Given the description of an element on the screen output the (x, y) to click on. 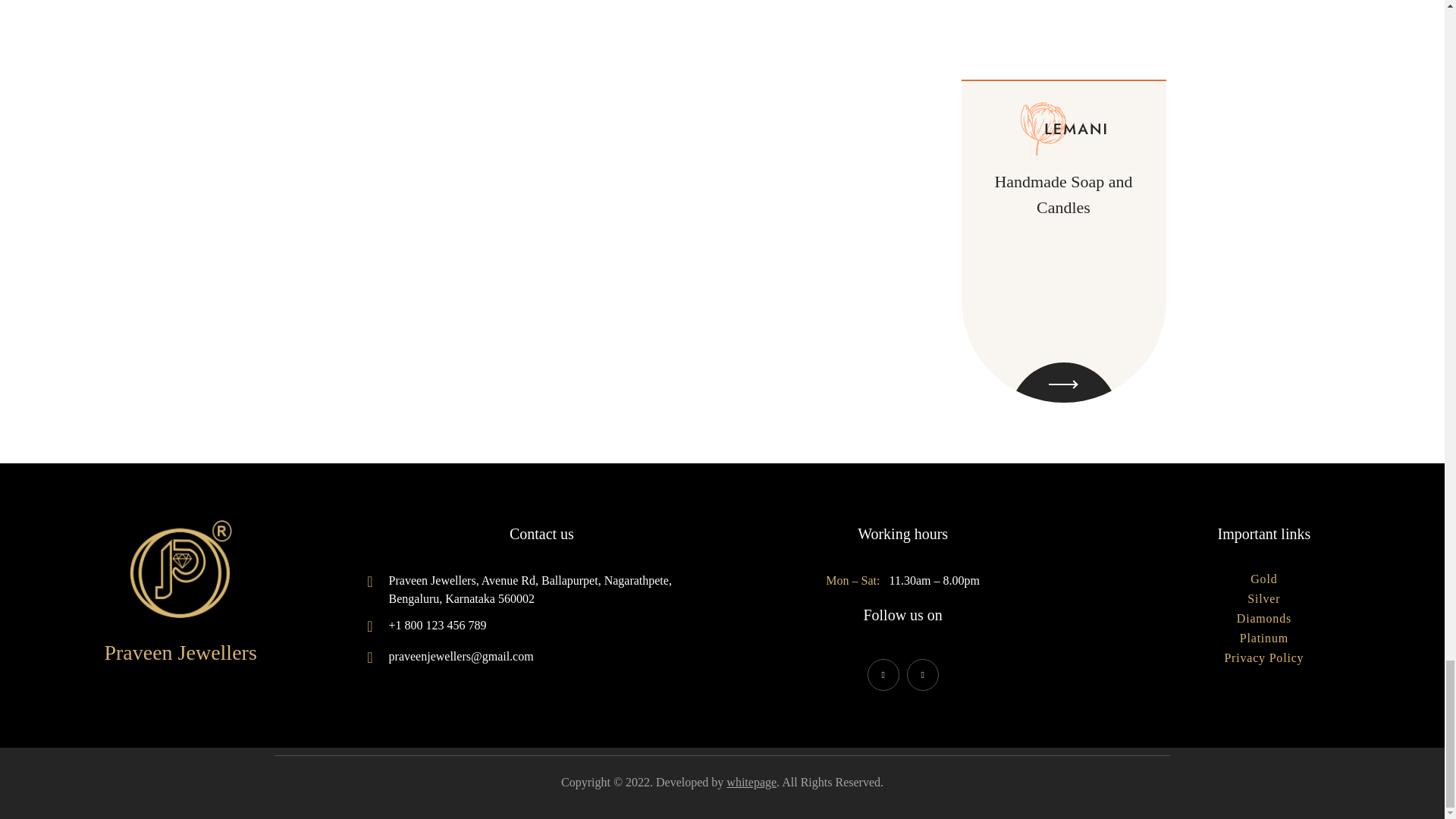
Facebook (883, 675)
Instagram (923, 675)
